Given the description of an element on the screen output the (x, y) to click on. 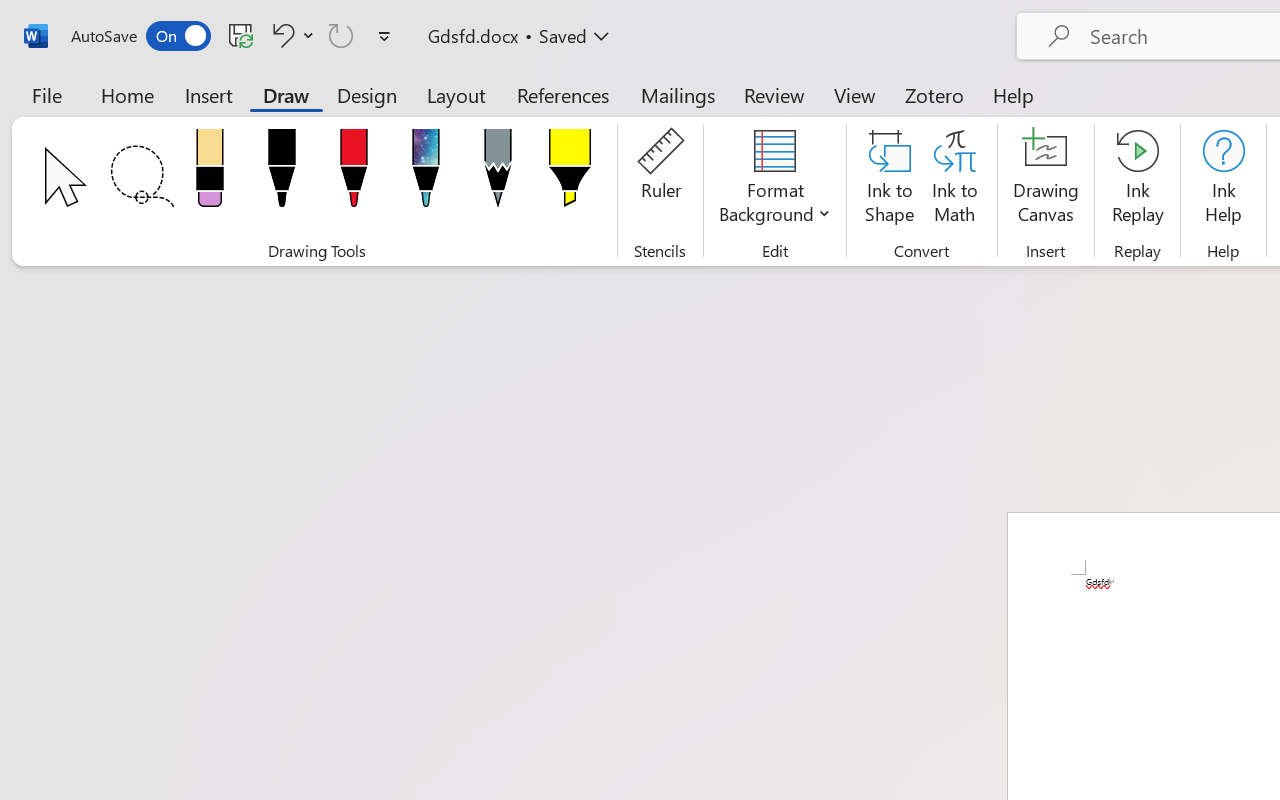
Learn More (646, 114)
400% (1224, 744)
Clear Recording (412, 114)
